Given the description of an element on the screen output the (x, y) to click on. 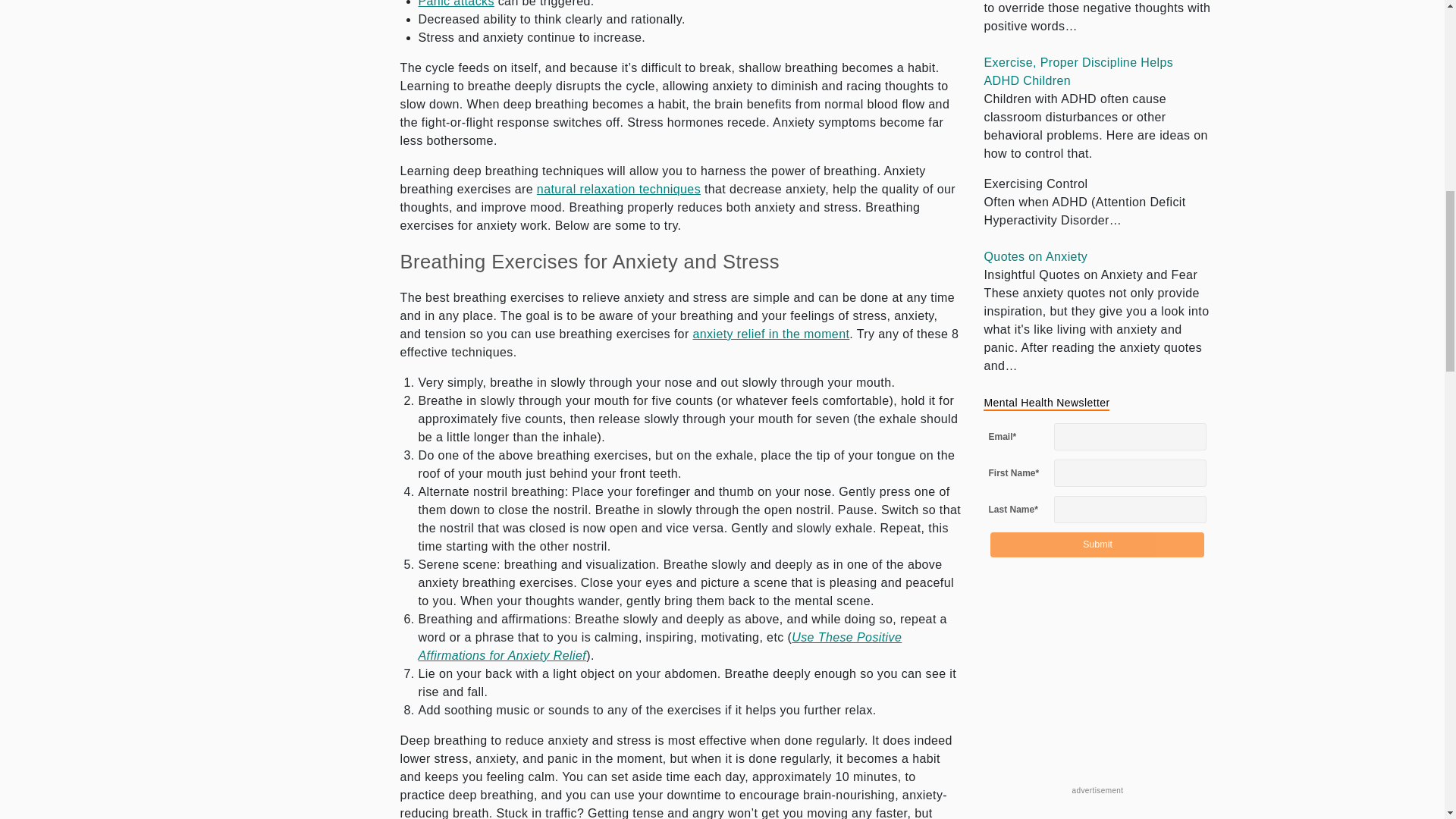
Natural Treatment for an Anxiety Disorder (618, 188)
Use These Positive Affirmations for Anxiety Relief (660, 645)
Submit (1097, 544)
How to Cure Panic Attacks: Is There a Panic Attack Cure? (457, 3)
Anxiety Relief Techniques for Quick Relief from Anxiety (770, 333)
